Given the description of an element on the screen output the (x, y) to click on. 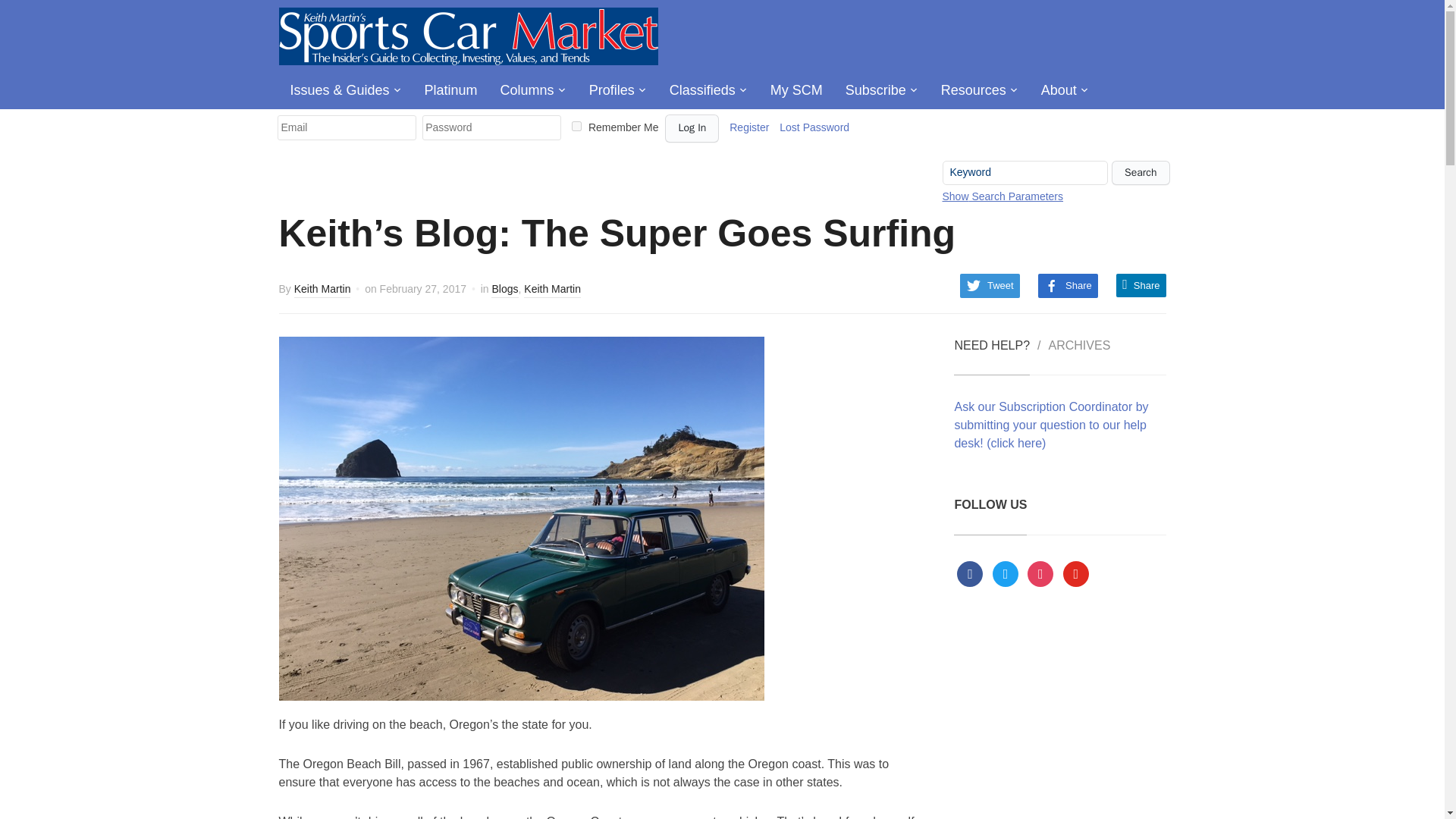
Log In (692, 128)
Archives (1079, 357)
Need Help? (991, 357)
Instagram (1039, 572)
Twitter (1004, 572)
Tweet this on Twitter (989, 285)
Share on LinkedIn (1141, 285)
forever (576, 126)
Posts by Keith Martin (322, 290)
Share this on Facebook (1067, 285)
3rd party ad content (1062, 730)
Facebook (969, 572)
Keith Martin's Guide to Car Collecting and Investing (468, 34)
Default Label (1075, 572)
Search (1141, 172)
